Given the description of an element on the screen output the (x, y) to click on. 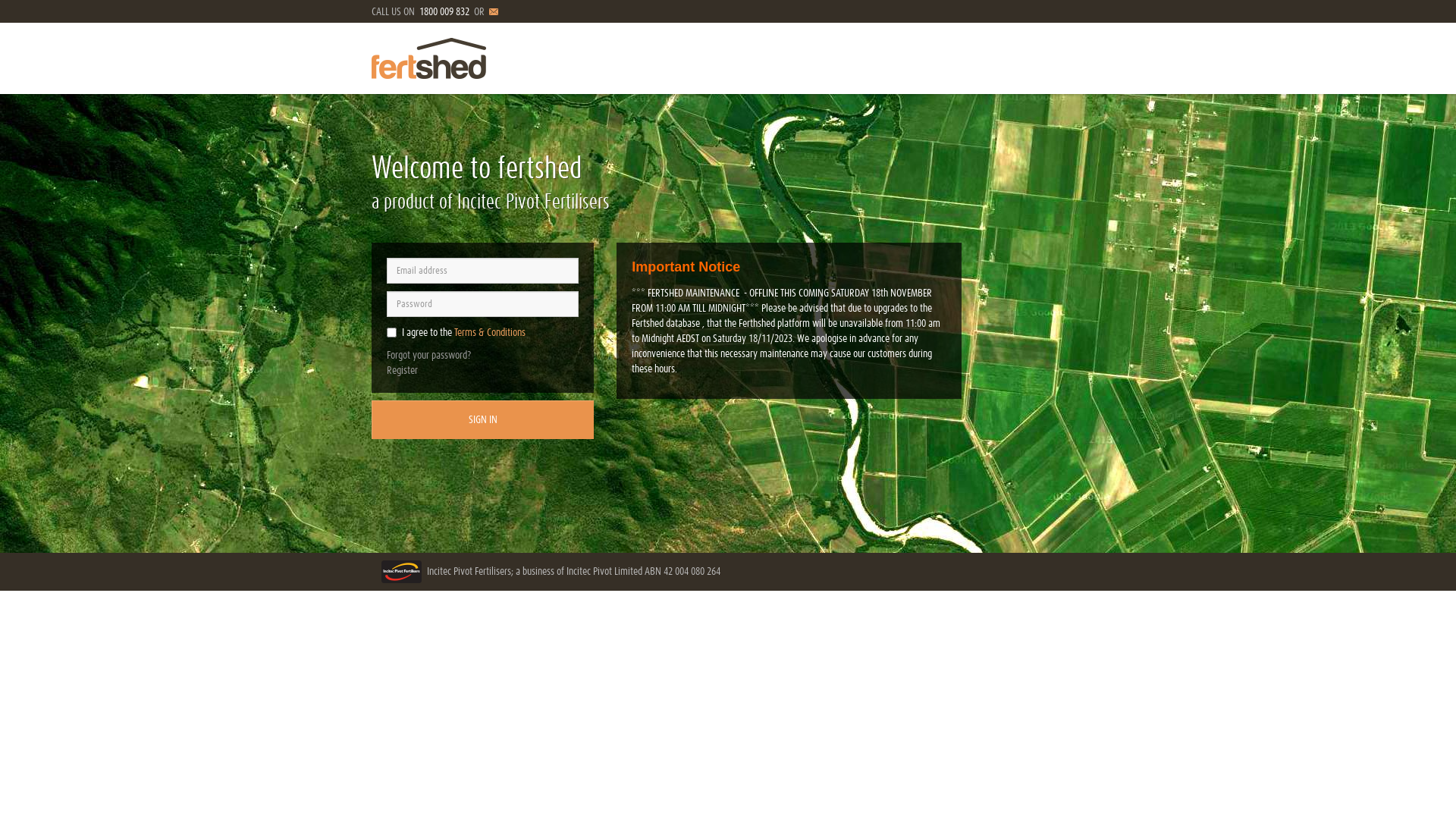
SIGN IN Element type: text (482, 419)
Terms & Conditions Element type: text (489, 331)
Register Element type: text (401, 369)
Forgot your password? Element type: text (428, 354)
